Given the description of an element on the screen output the (x, y) to click on. 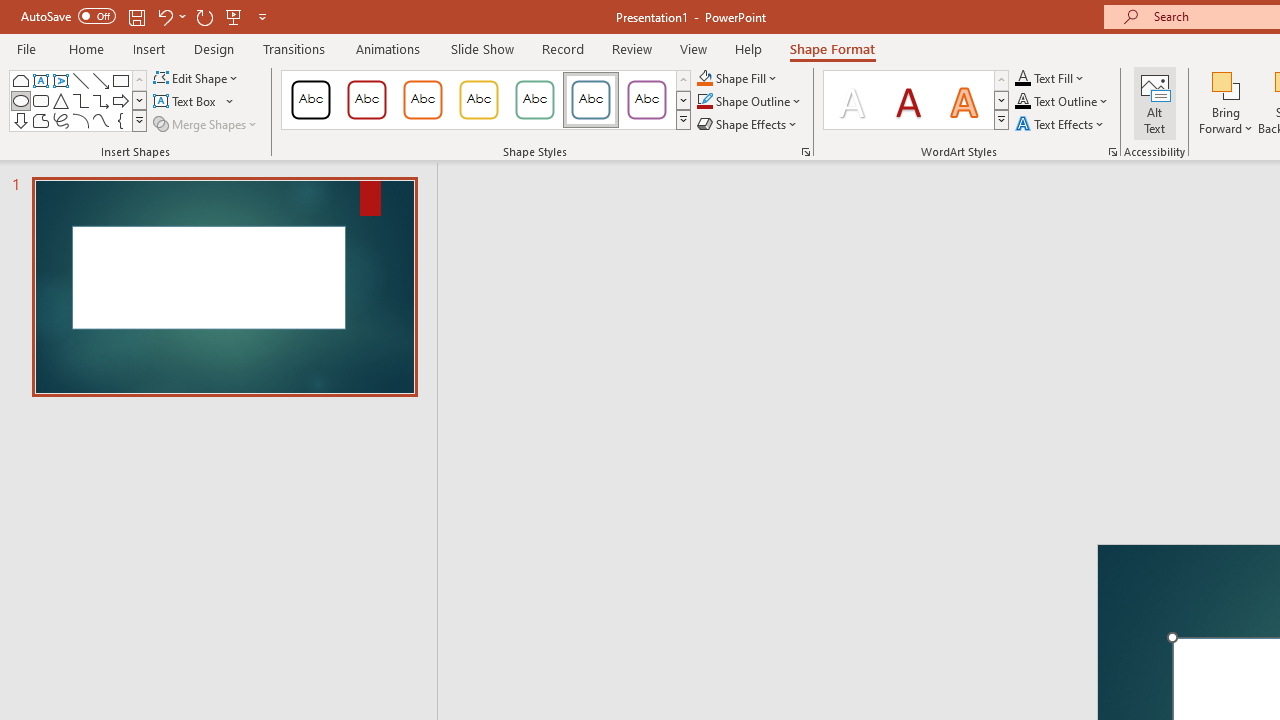
Arrow: Right (120, 100)
Text Box (40, 80)
Colored Outline - Gold, Accent 3 (478, 100)
Left Brace (120, 120)
Colored Outline - Dark Red, Accent 1 (367, 100)
AutomationID: ShapeStylesGallery (486, 99)
Connector: Elbow (80, 100)
